Given the description of an element on the screen output the (x, y) to click on. 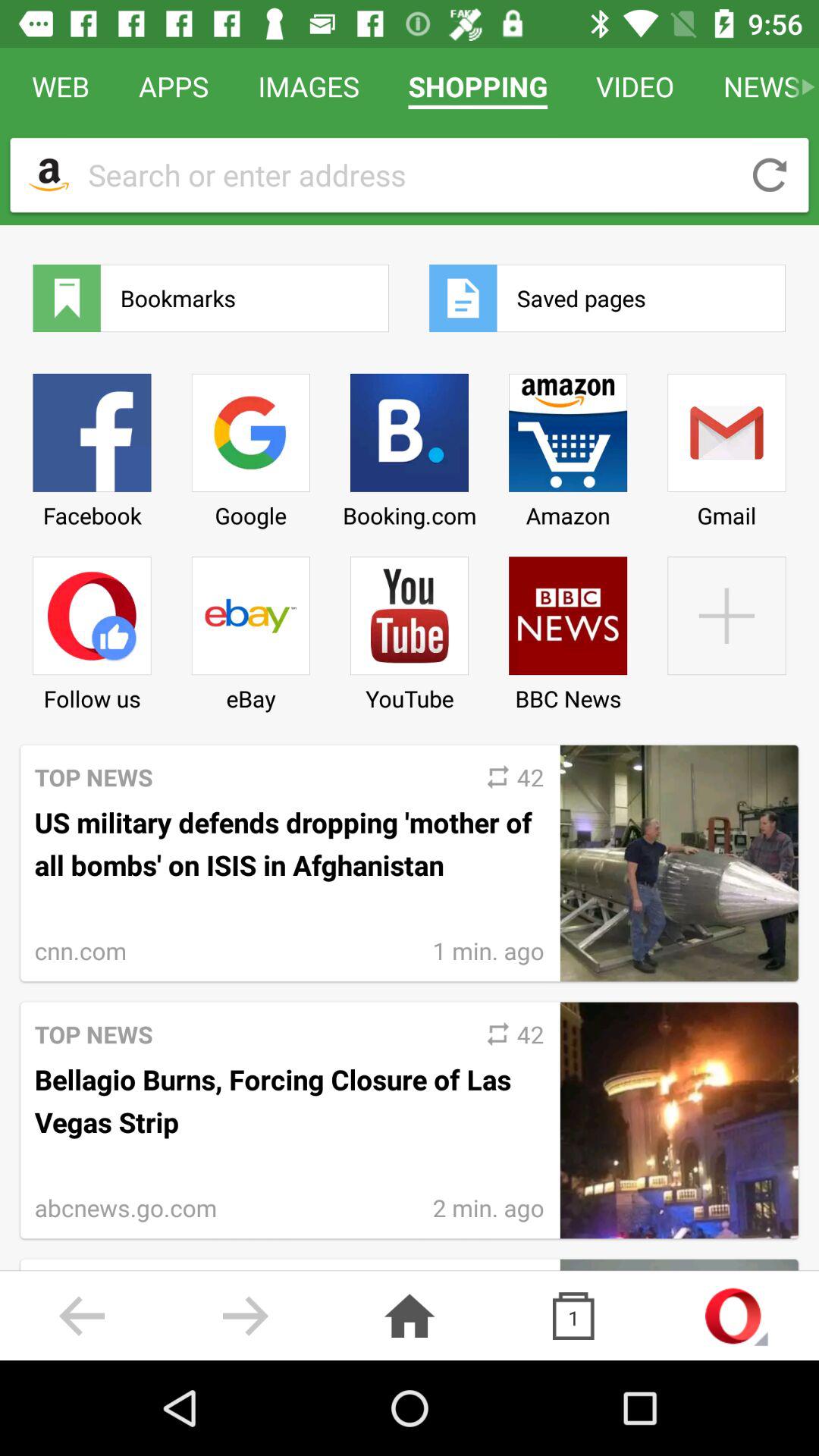
choose app above us military defends (250, 628)
